Given the description of an element on the screen output the (x, y) to click on. 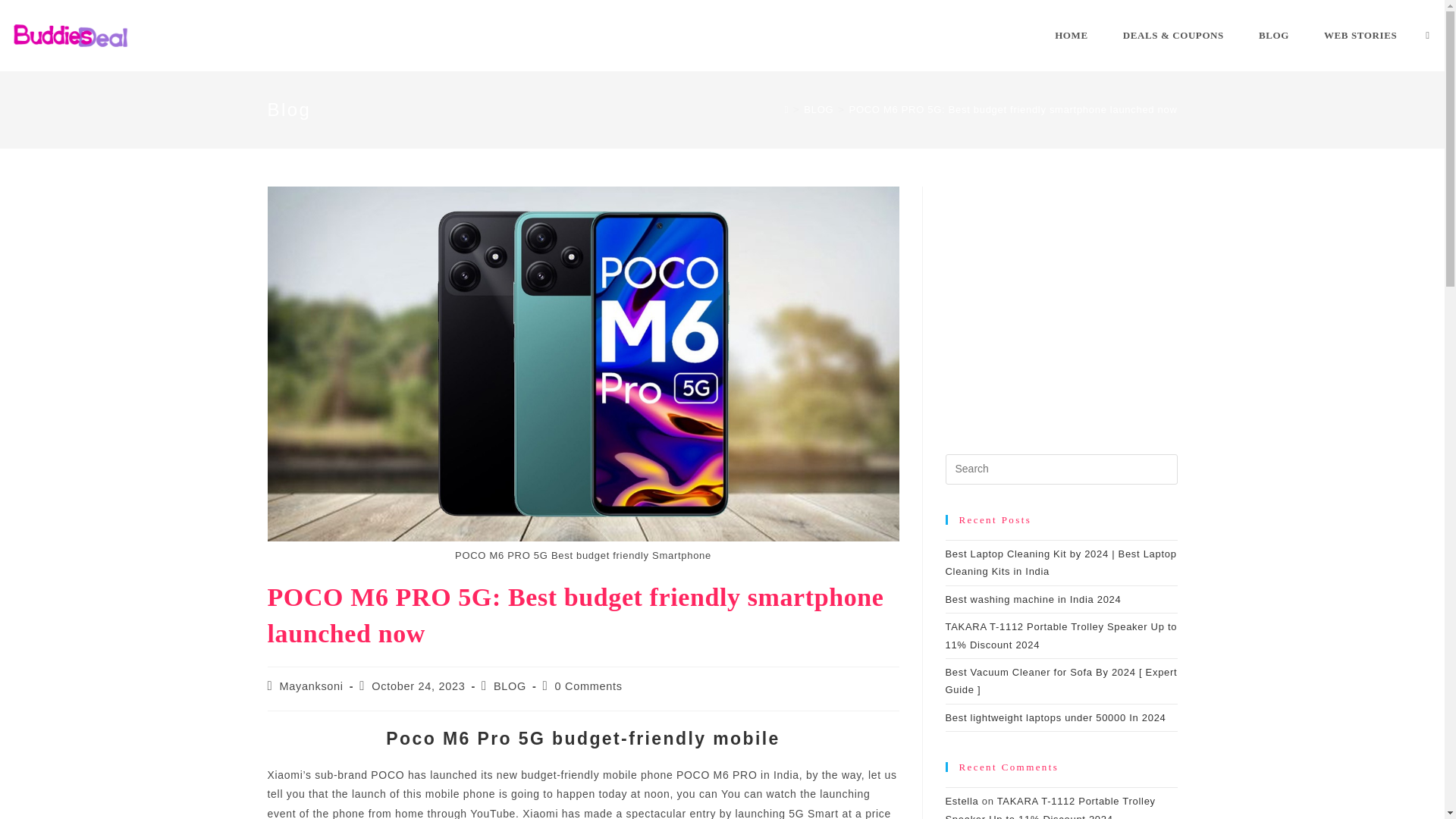
Advertisement (1060, 329)
WEB STORIES (1359, 35)
Mayanksoni (310, 686)
Posts by Mayanksoni (310, 686)
BLOG (817, 109)
0 Comments (588, 686)
HOME (1070, 35)
POCO M6 PRO 5G: Best budget friendly smartphone launched now (1012, 109)
BLOG (1273, 35)
Best lightweight laptops under 50000 In 2024 (1055, 717)
